Given the description of an element on the screen output the (x, y) to click on. 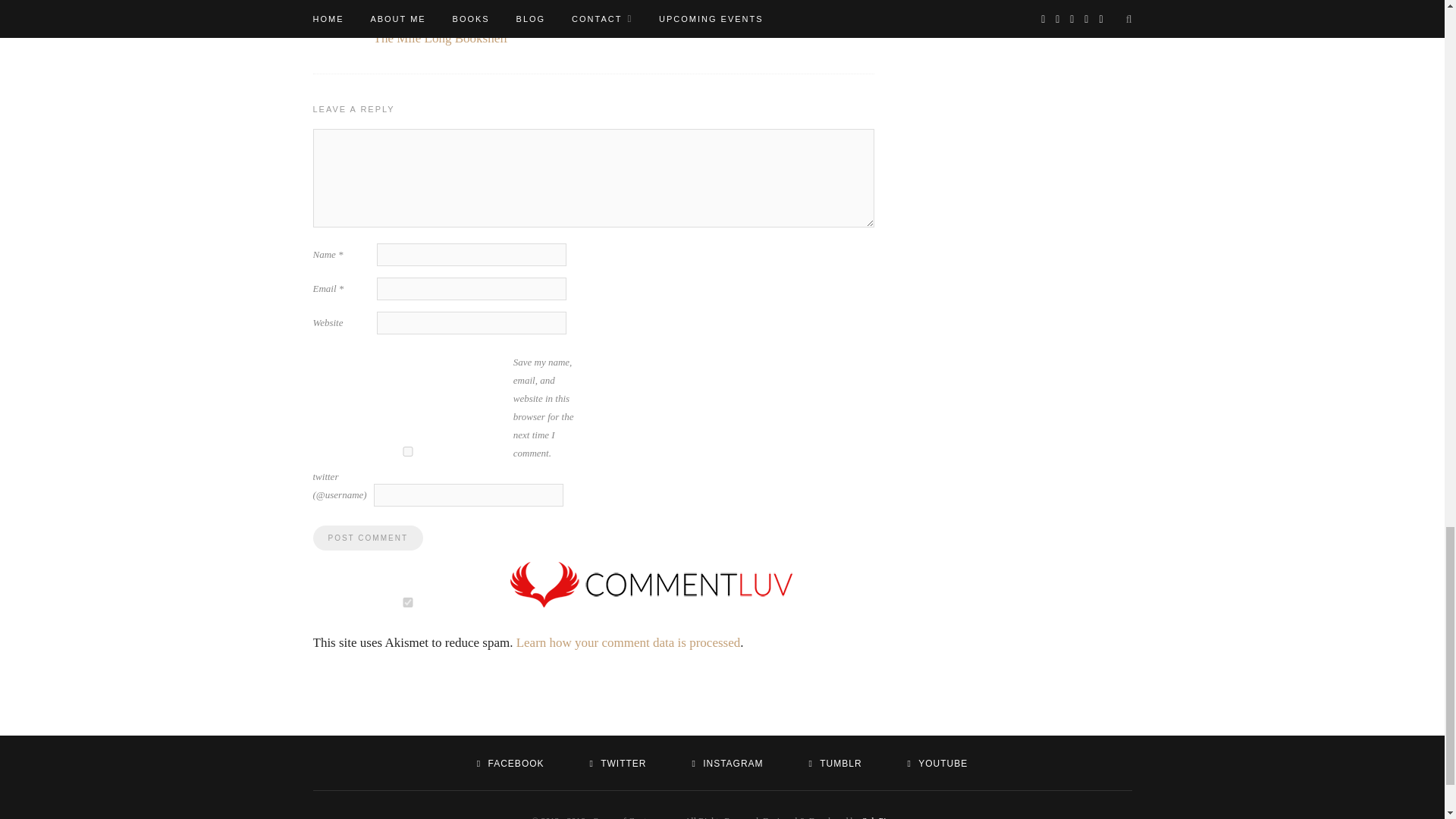
FACEBOOK (510, 763)
yes (407, 451)
TUMBLR (834, 763)
The Mile Long Bookshelf (439, 38)
SoloPine.com (886, 817)
Post Comment (367, 537)
Learn how your comment data is processed (628, 642)
Post Comment (367, 537)
on (407, 602)
TWITTER (617, 763)
